Given the description of an element on the screen output the (x, y) to click on. 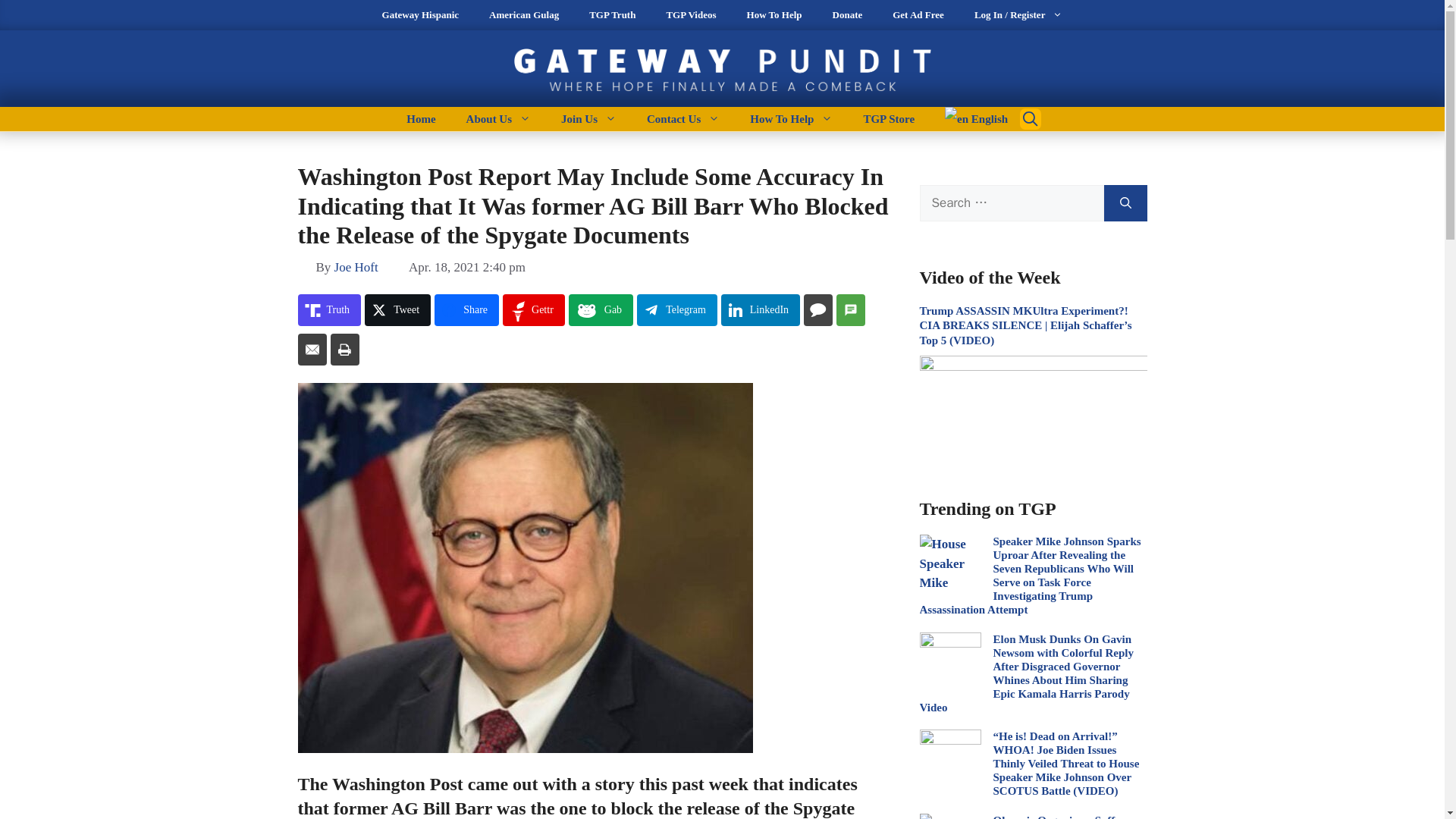
Home (420, 119)
Get Ad Free (918, 15)
TGP Truth (611, 15)
English (968, 119)
Share on LinkedIn (759, 309)
Share on Tweet (397, 309)
Join Us (588, 119)
Share on Gettr (533, 309)
American Gulag (523, 15)
Gateway Hispanic (420, 15)
TGP Videos (690, 15)
How To Help (791, 119)
